Given the description of an element on the screen output the (x, y) to click on. 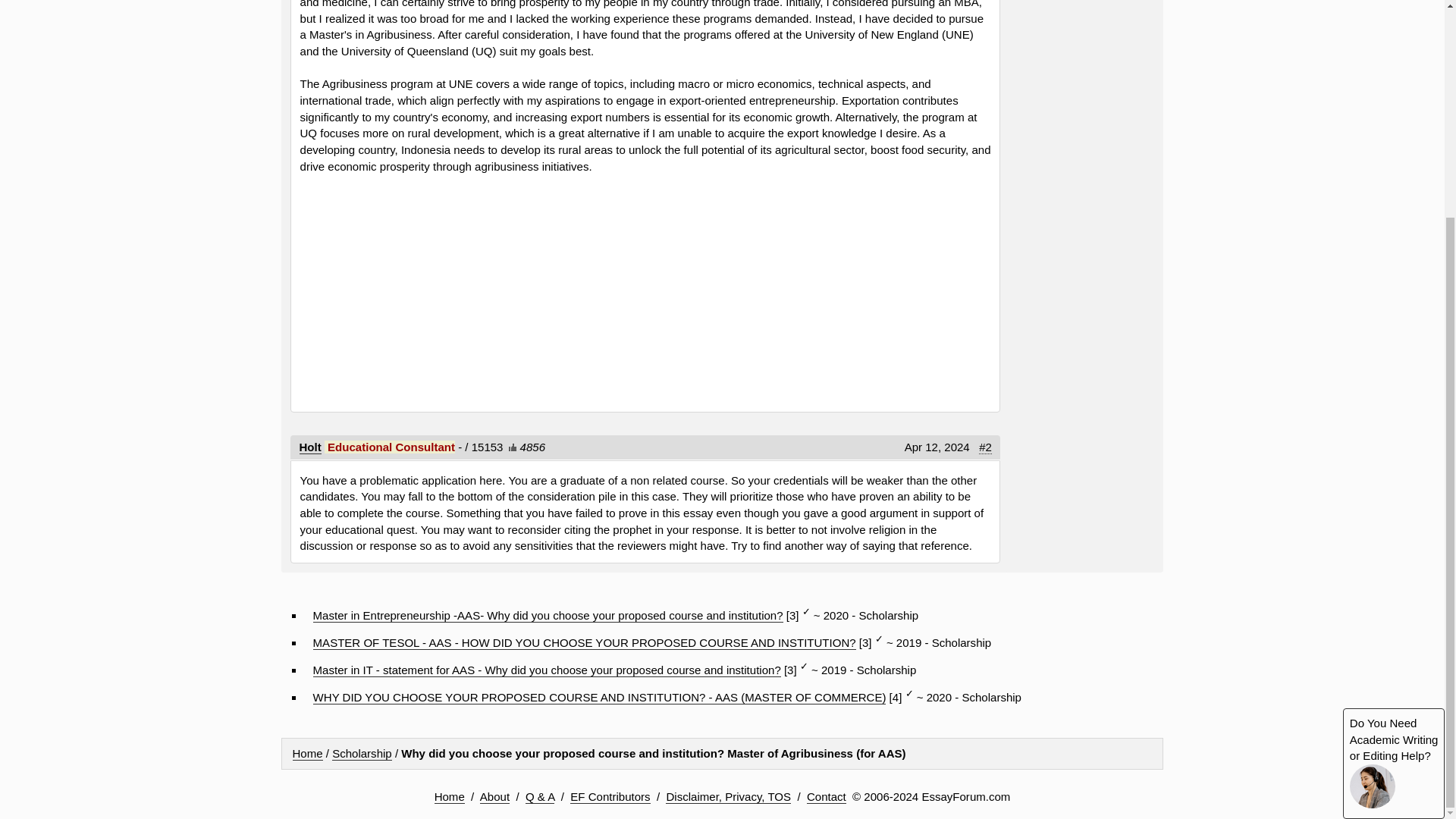
Contact (825, 796)
Disclaimer, Privacy, TOS (727, 796)
Scholarship (361, 753)
EF Contributors (609, 796)
Author: Mary Rose (310, 447)
Home (448, 796)
About (494, 796)
Home (307, 753)
